Given the description of an element on the screen output the (x, y) to click on. 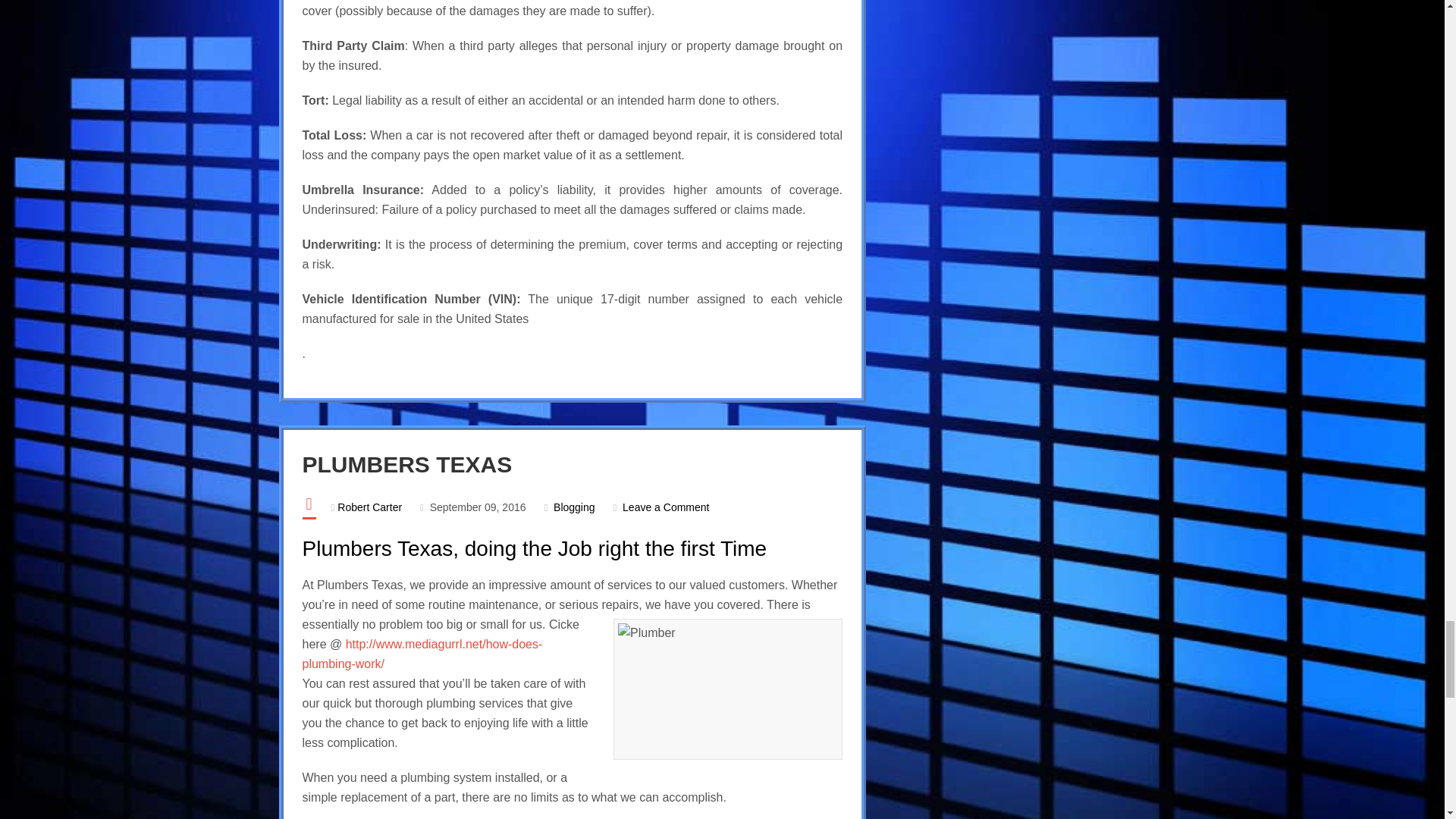
Leave a Comment (666, 507)
September 9, 2016 (477, 507)
Robert Carter (369, 507)
Blogging (574, 507)
Posts by Robert Carter (369, 507)
Plumbers Texas (406, 464)
PLUMBERS TEXAS (406, 464)
